Given the description of an element on the screen output the (x, y) to click on. 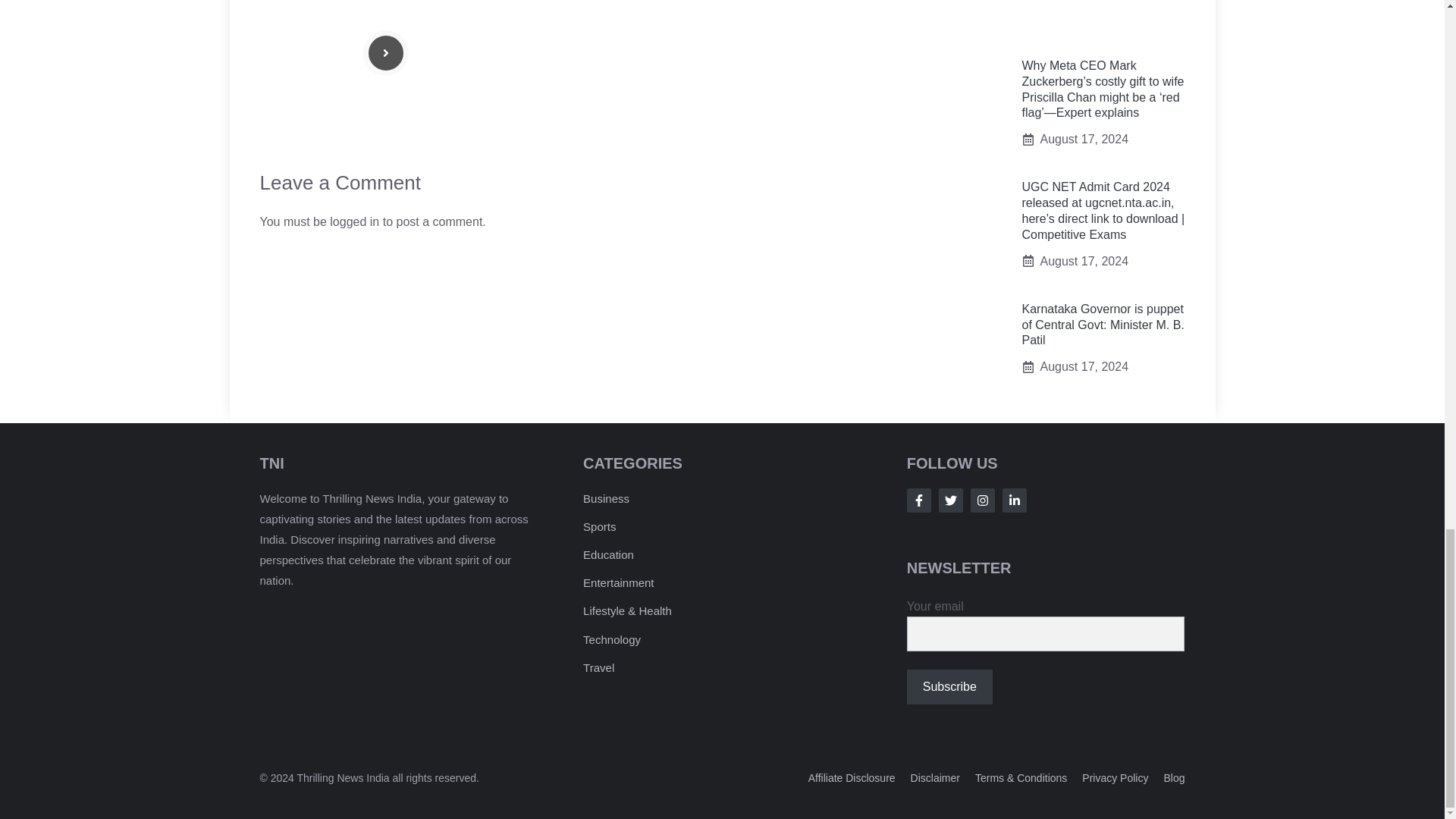
Entertainment (618, 582)
Education (608, 554)
Subscribe (949, 686)
Sports (599, 526)
Business (605, 498)
logged in (354, 221)
Travel (598, 667)
Technology (611, 639)
